Given the description of an element on the screen output the (x, y) to click on. 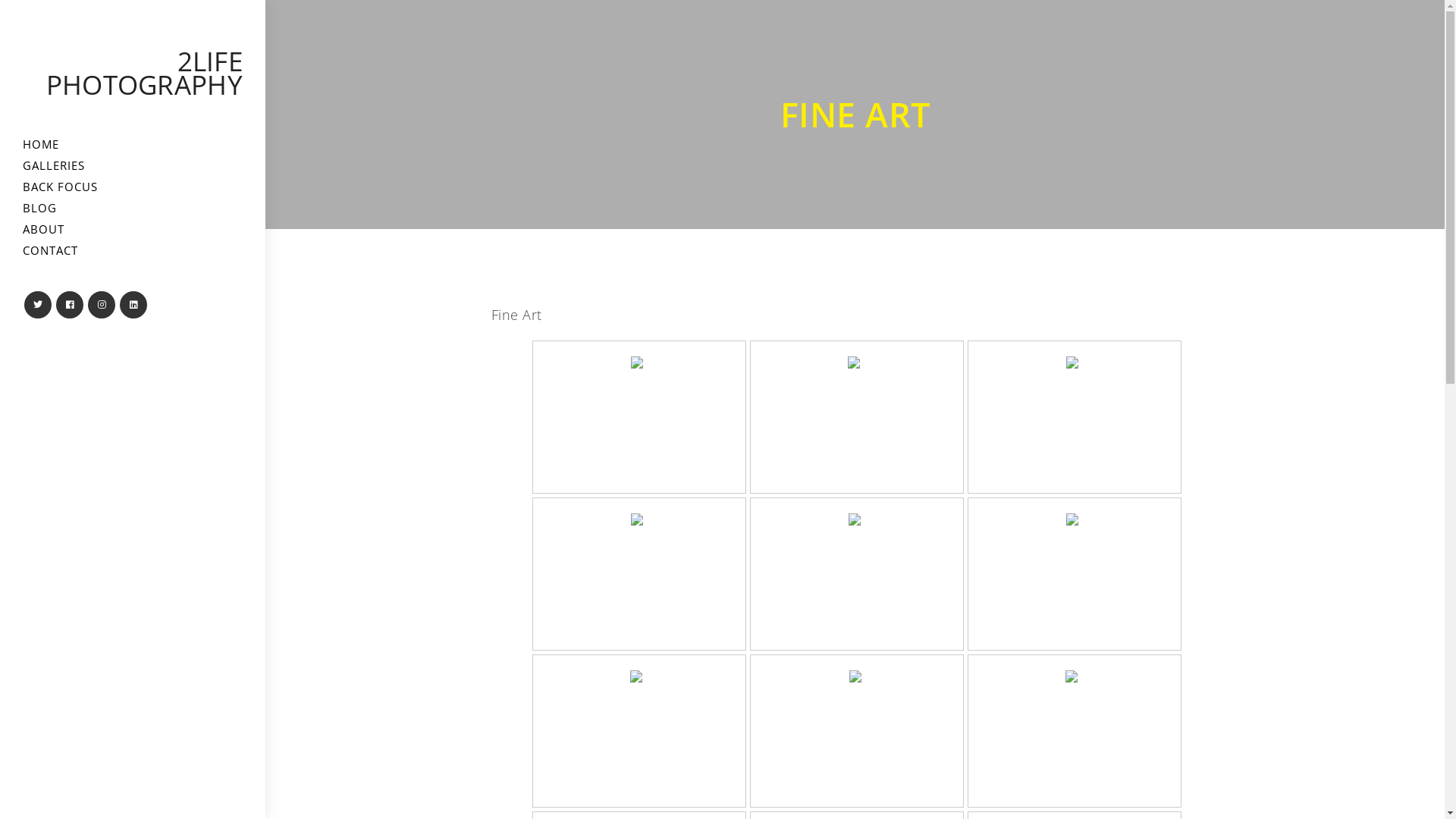
goldfield_0059-e Element type: hover (639, 676)
2018clad-0003 Element type: hover (857, 519)
CONTACT Element type: text (132, 250)
2018clad-0004a Element type: hover (639, 362)
2018clad-0005 Element type: hover (1074, 519)
IMG_0603 Element type: hover (856, 676)
HOME Element type: text (132, 144)
ABOUT Element type: text (132, 229)
BACK FOCUS Element type: text (132, 186)
2LIFE PHOTOGRAPHY Element type: text (144, 72)
BLOG Element type: text (132, 207)
2018clad-0001 Element type: hover (639, 519)
warwick_pastoral Element type: hover (856, 362)
GALLERIES Element type: text (132, 165)
IMG_0527-hdrfx2a Element type: hover (1074, 676)
2018clad-0006 Element type: hover (1074, 362)
